Given the description of an element on the screen output the (x, y) to click on. 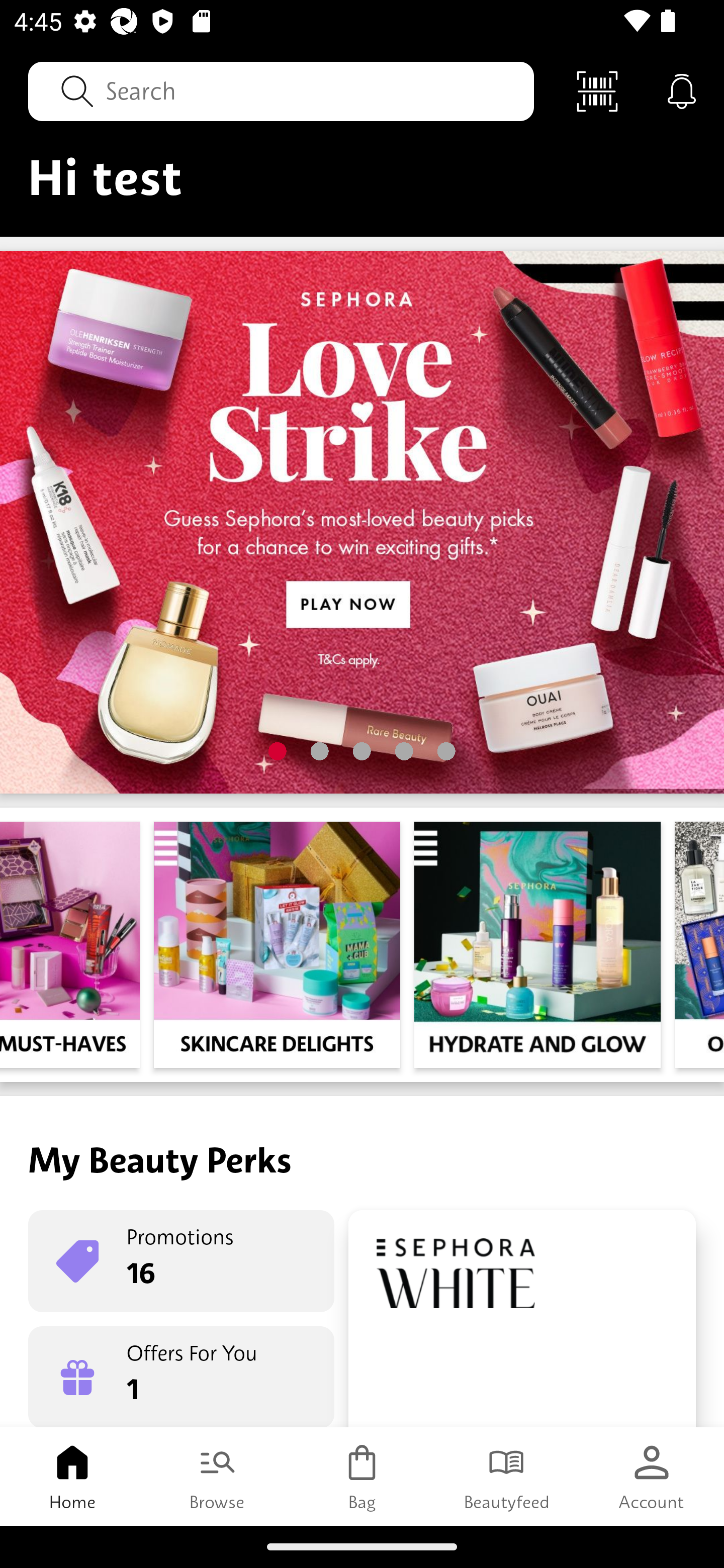
Scan Code (597, 90)
Notifications (681, 90)
Search (281, 90)
Promotions 16 (181, 1261)
Rewards Boutique 90 Pts (521, 1318)
Offers For You 1 (181, 1376)
Browse (216, 1475)
Bag (361, 1475)
Beautyfeed (506, 1475)
Account (651, 1475)
